Given the description of an element on the screen output the (x, y) to click on. 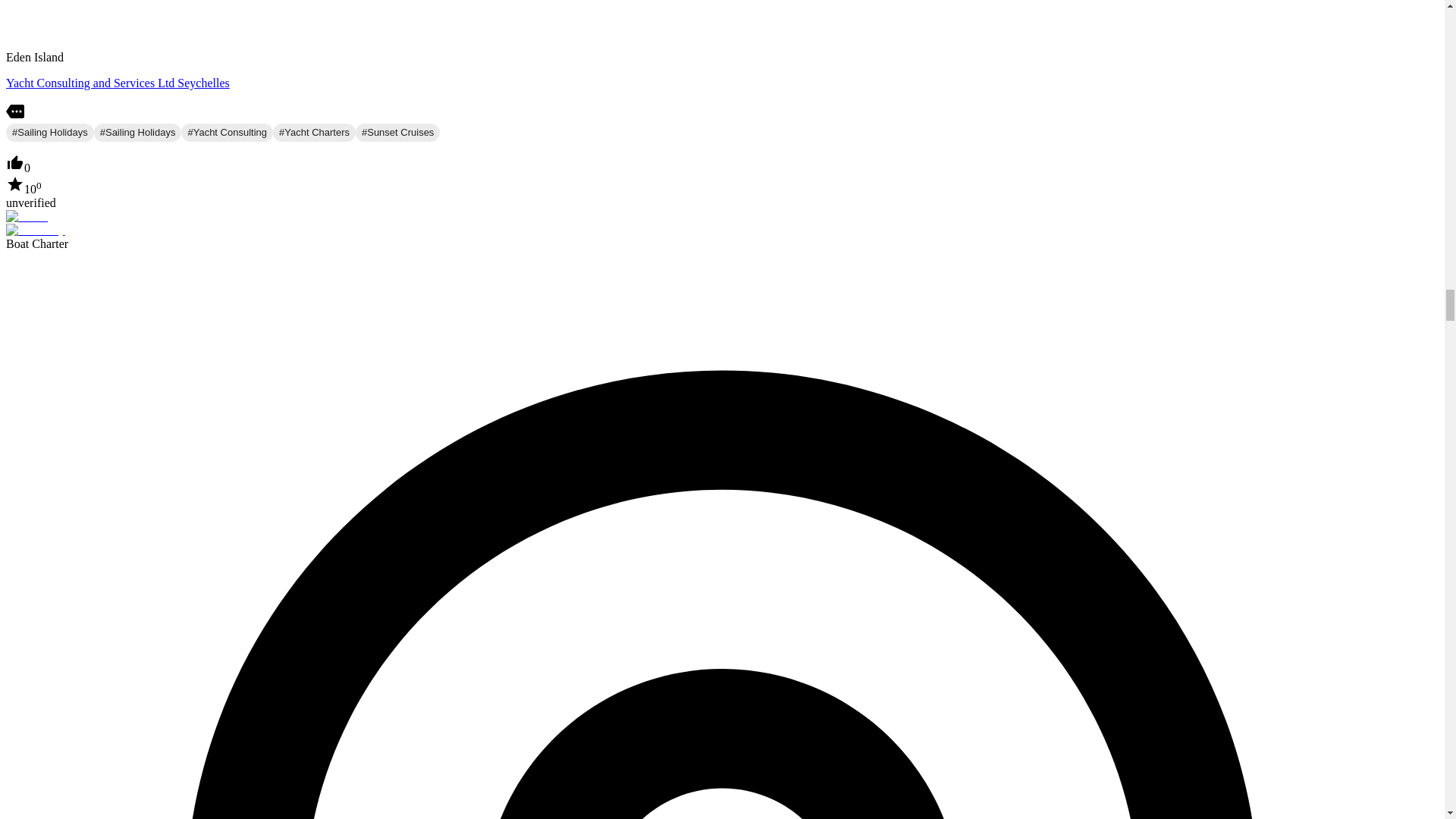
Yacht Consulting and Services Ltd Seychelles Seychelles (117, 82)
